Given the description of an element on the screen output the (x, y) to click on. 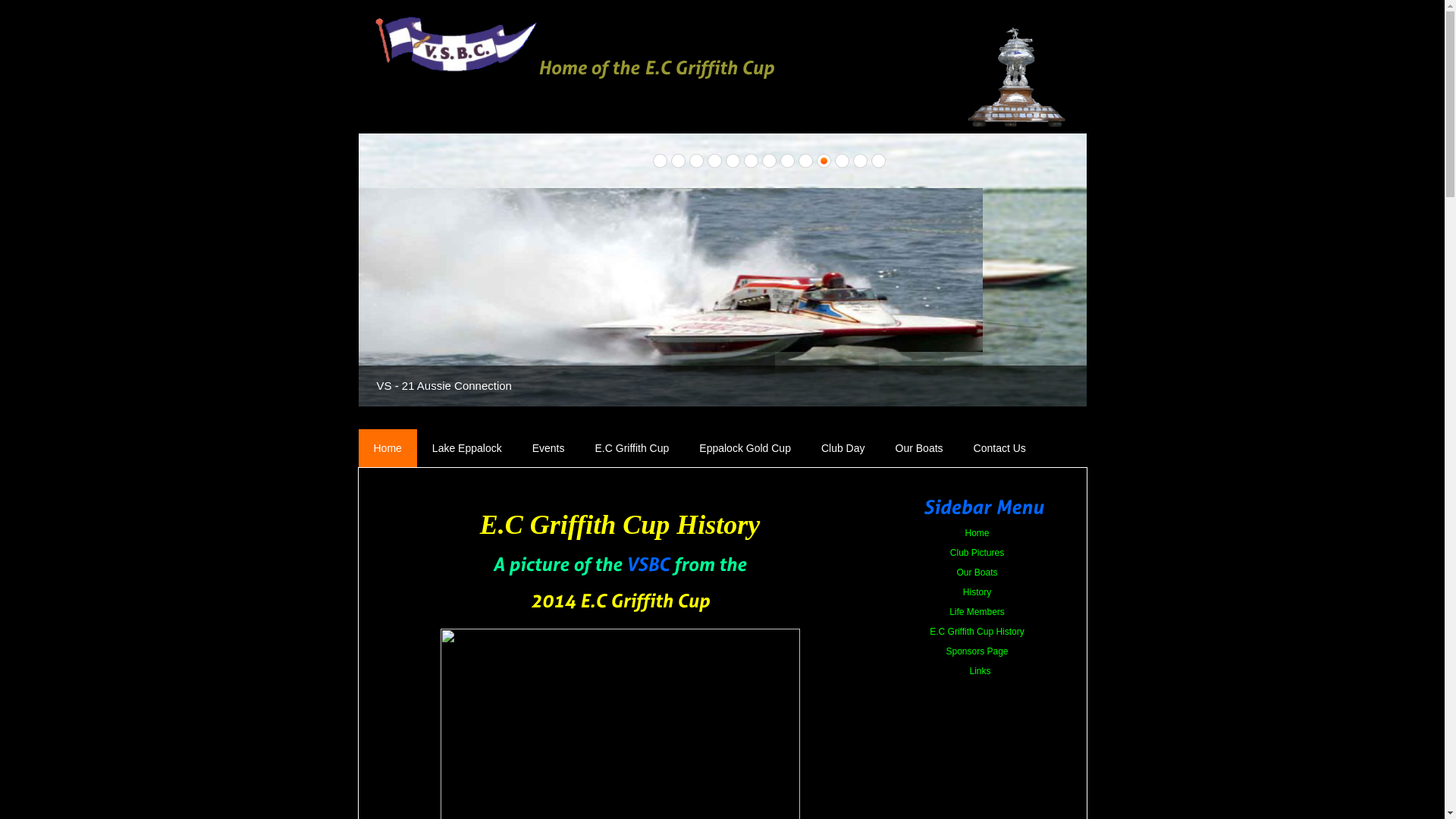
Home Element type: text (386, 448)
3 Element type: text (695, 160)
Events Element type: text (548, 448)
Home Element type: text (973, 532)
Our Boats Element type: text (919, 448)
12 Element type: text (859, 160)
5 Element type: text (732, 160)
9 Element type: text (804, 160)
2 Element type: text (677, 160)
Our Boats Element type: text (973, 572)
Eppalock Gold Cup Element type: text (745, 448)
4 Element type: text (713, 160)
1 Element type: text (659, 160)
Life Members Element type: text (973, 611)
E.C Griffith Cup Element type: text (632, 448)
7 Element type: text (768, 160)
Sponsors Page Element type: text (973, 651)
E.C Griffith Cup History Element type: text (973, 631)
Lake Eppalock Element type: text (467, 448)
10 Element type: text (823, 160)
6 Element type: text (750, 160)
8 Element type: text (786, 160)
Club Pictures Element type: text (974, 552)
13 Element type: text (877, 160)
Contact Us Element type: text (999, 448)
11 Element type: text (841, 160)
History Element type: text (973, 591)
Club Day Element type: text (843, 448)
